Given the description of an element on the screen output the (x, y) to click on. 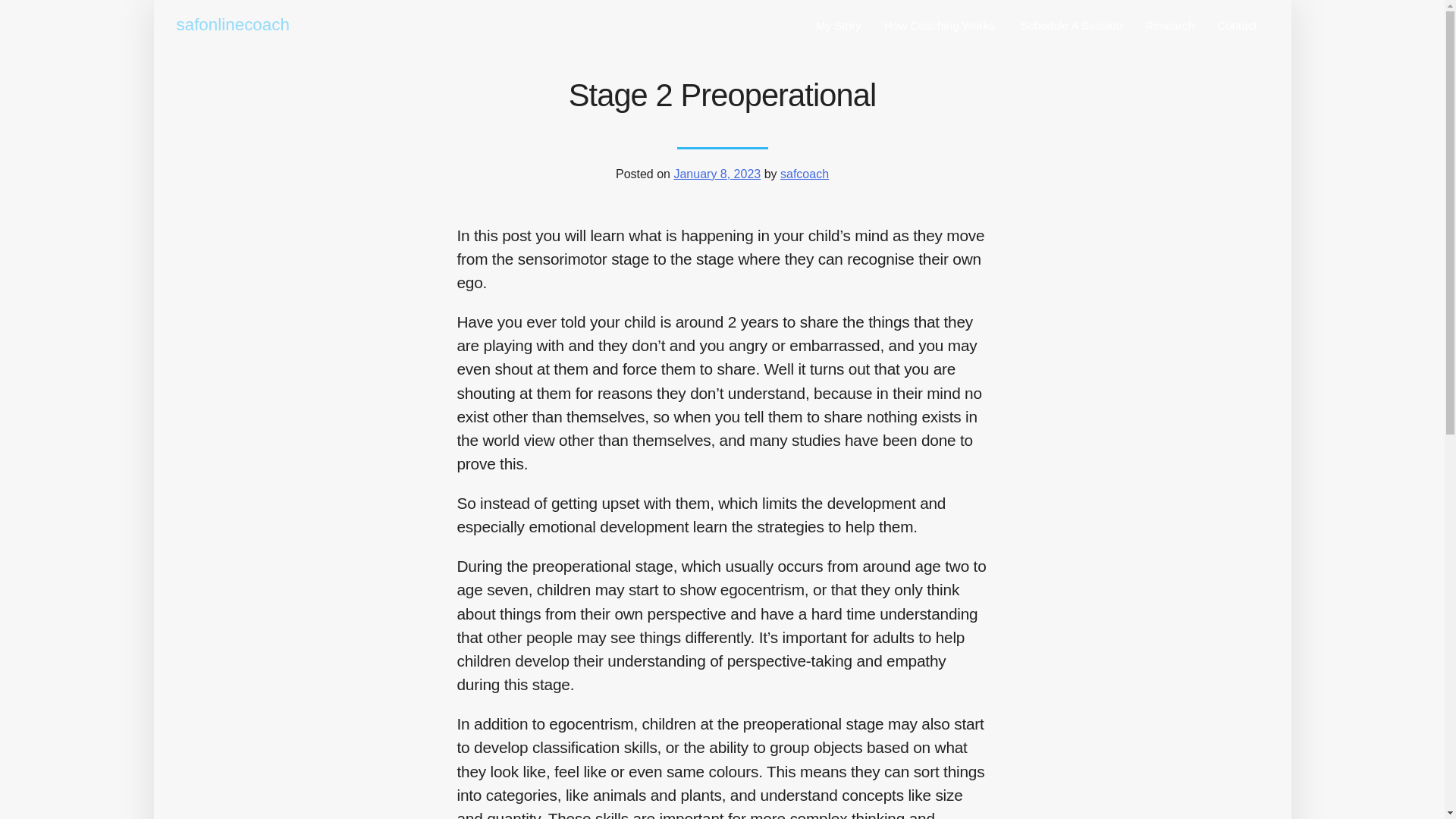
safonlinecoach  (235, 26)
How Coaching Works. (940, 26)
January 8, 2023 (716, 173)
Schedule A Session (1071, 26)
Contact (1236, 26)
Research (1168, 26)
safcoach (804, 173)
My Story (838, 26)
